Given the description of an element on the screen output the (x, y) to click on. 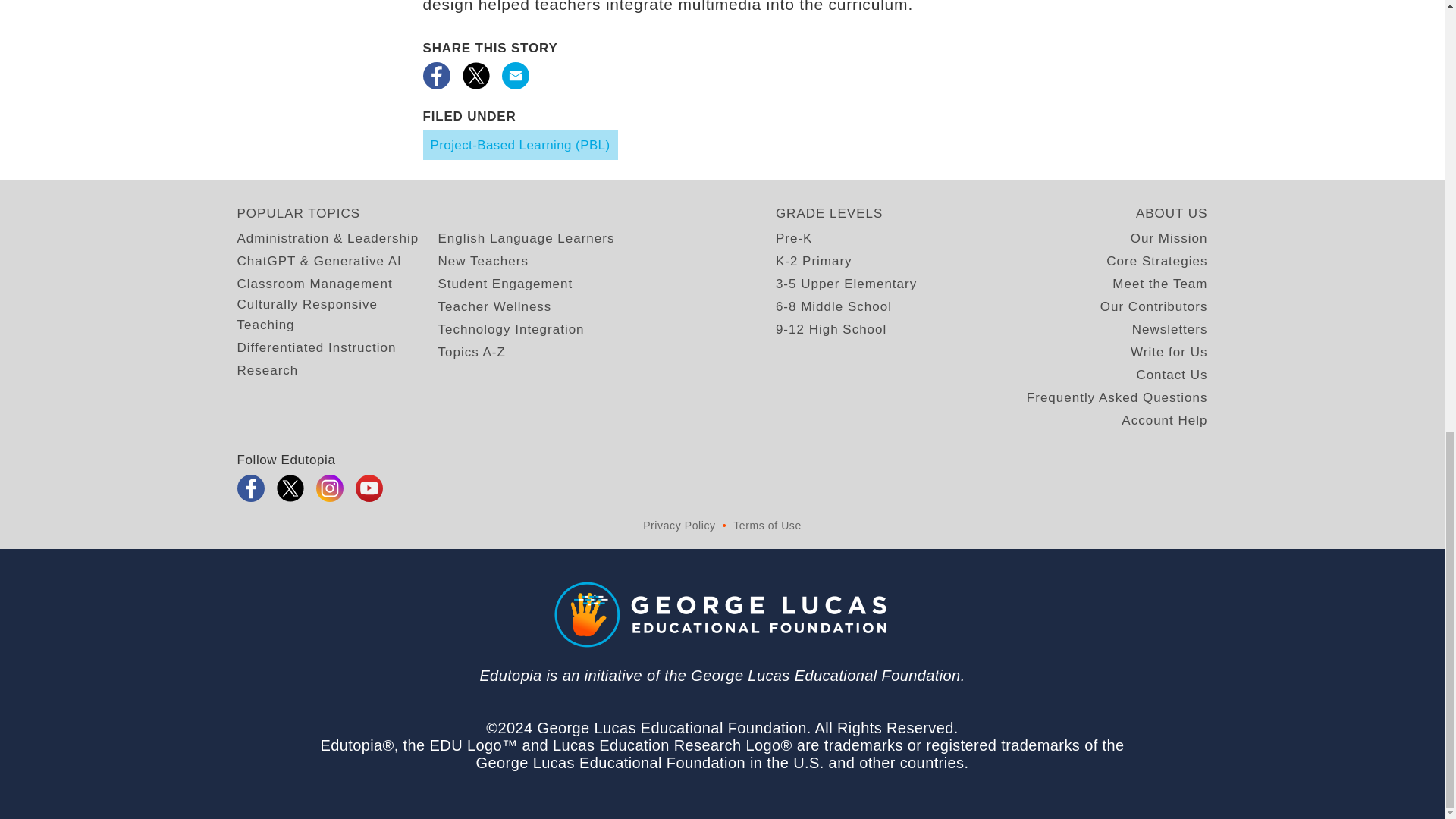
Student Engagement (505, 283)
English Language Learners (526, 238)
Differentiated Instruction (315, 347)
Topics A-Z (471, 352)
New Teachers (483, 260)
Technology Integration (511, 329)
Research (266, 370)
Culturally Responsive Teaching (336, 314)
Pre-K (794, 238)
3-5 Upper Elementary (846, 283)
